Given the description of an element on the screen output the (x, y) to click on. 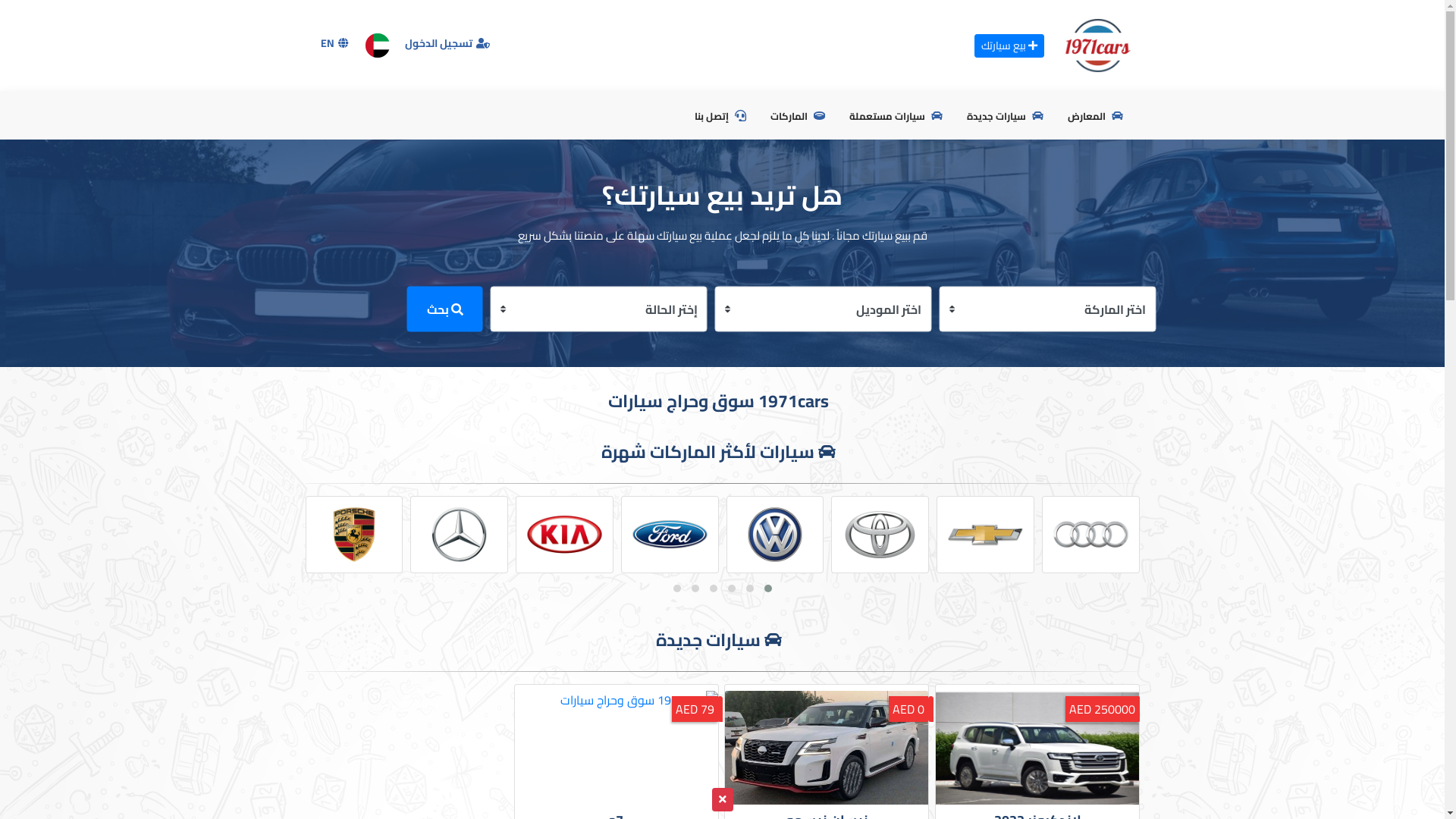
EN Element type: text (334, 42)
